Given the description of an element on the screen output the (x, y) to click on. 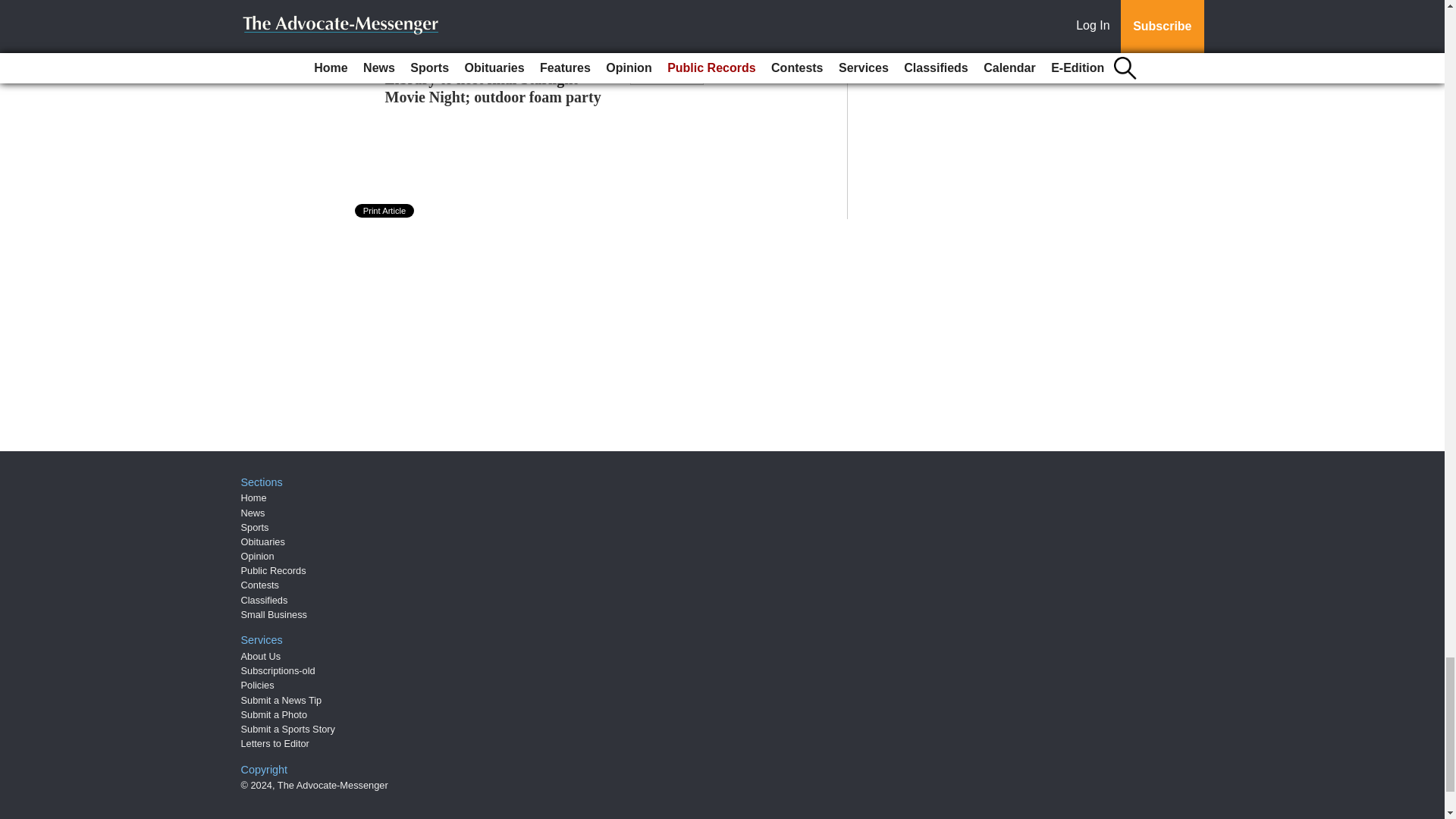
Print Article (384, 210)
